Given the description of an element on the screen output the (x, y) to click on. 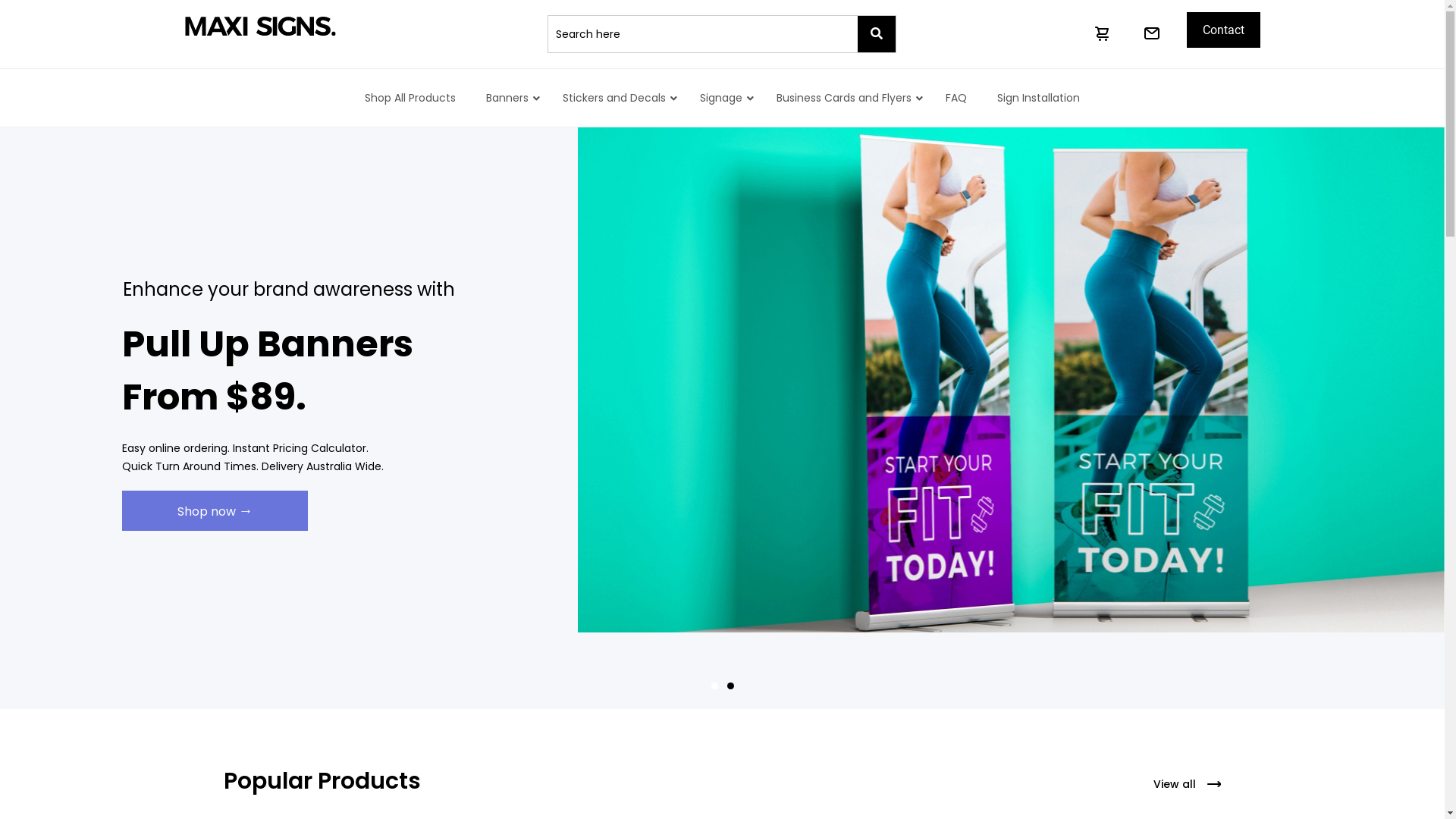
Cart Element type: hover (1102, 32)
Sign Installation Element type: text (1038, 97)
FAQ Element type: text (956, 97)
View all Element type: text (1174, 783)
Search Element type: hover (702, 33)
Business Cards and Flyers Element type: text (845, 97)
Contact Element type: text (1223, 29)
Banners Element type: text (508, 97)
Shop All Products Element type: text (409, 97)
Stickers and Decals Element type: text (615, 97)
Signage Element type: text (722, 97)
